Given the description of an element on the screen output the (x, y) to click on. 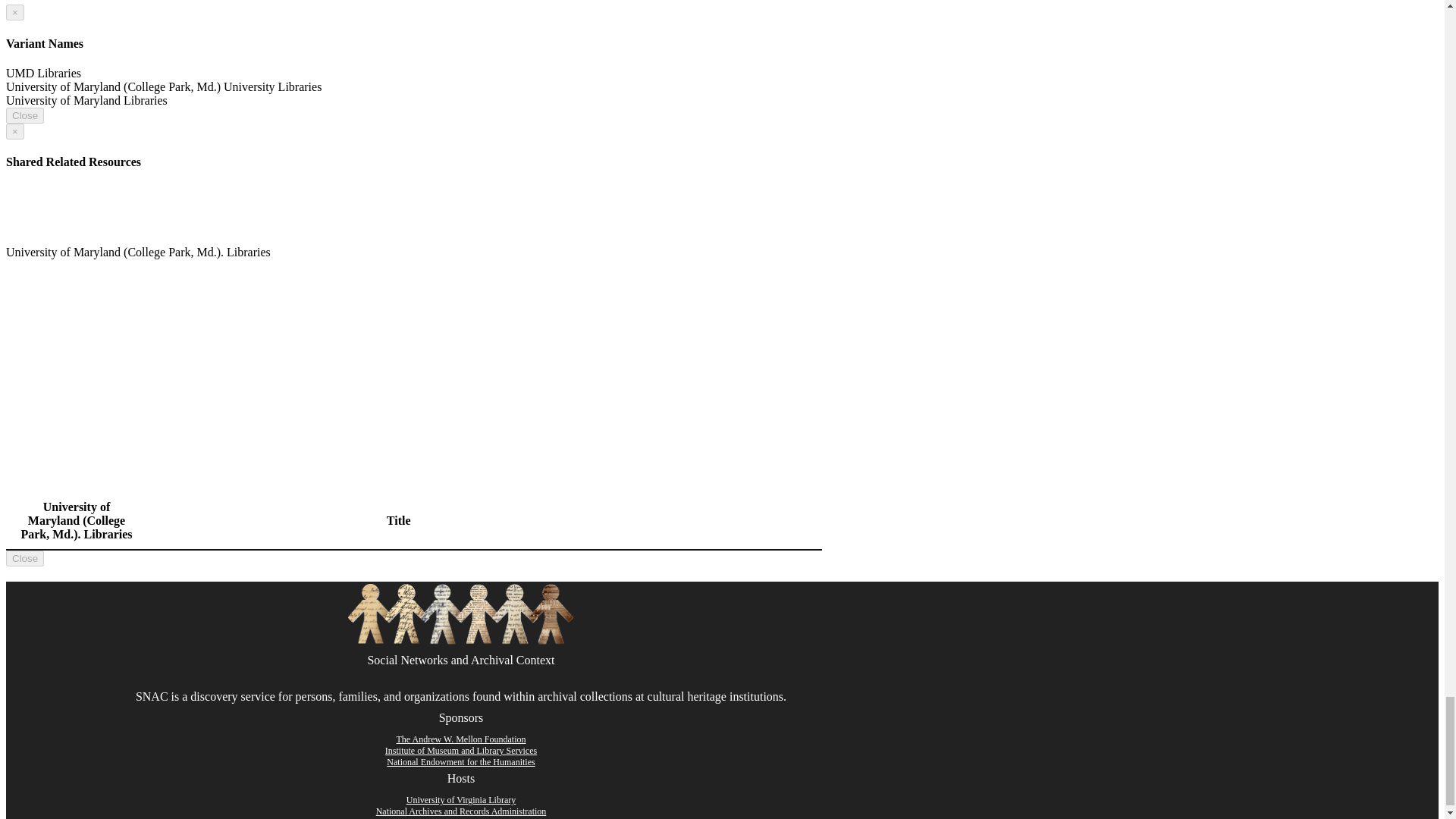
variant forms of name (413, 86)
